Given the description of an element on the screen output the (x, y) to click on. 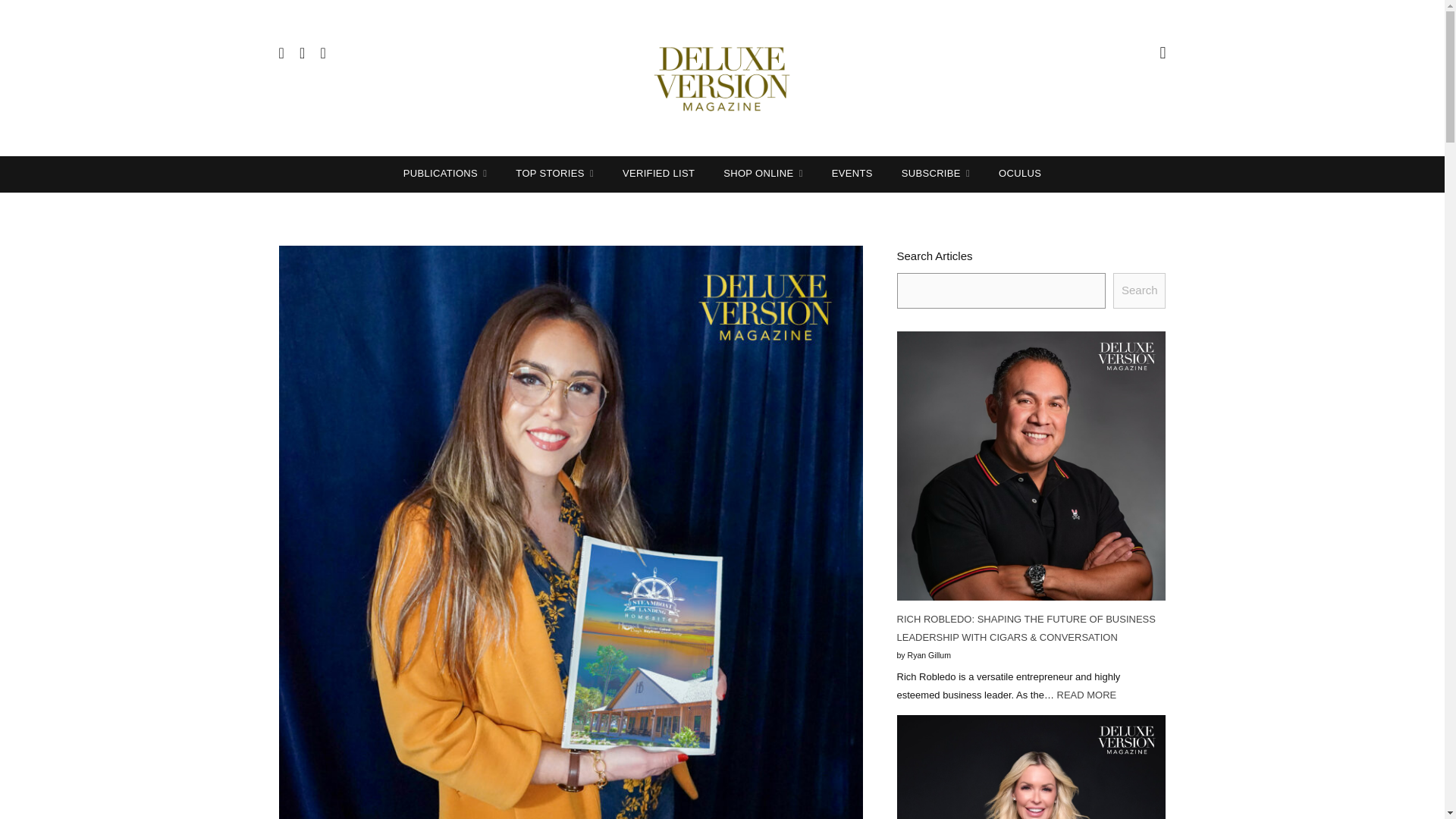
TOP STORIES (554, 173)
PUBLICATIONS (445, 173)
Top Stories (554, 173)
Publications (445, 173)
